Given the description of an element on the screen output the (x, y) to click on. 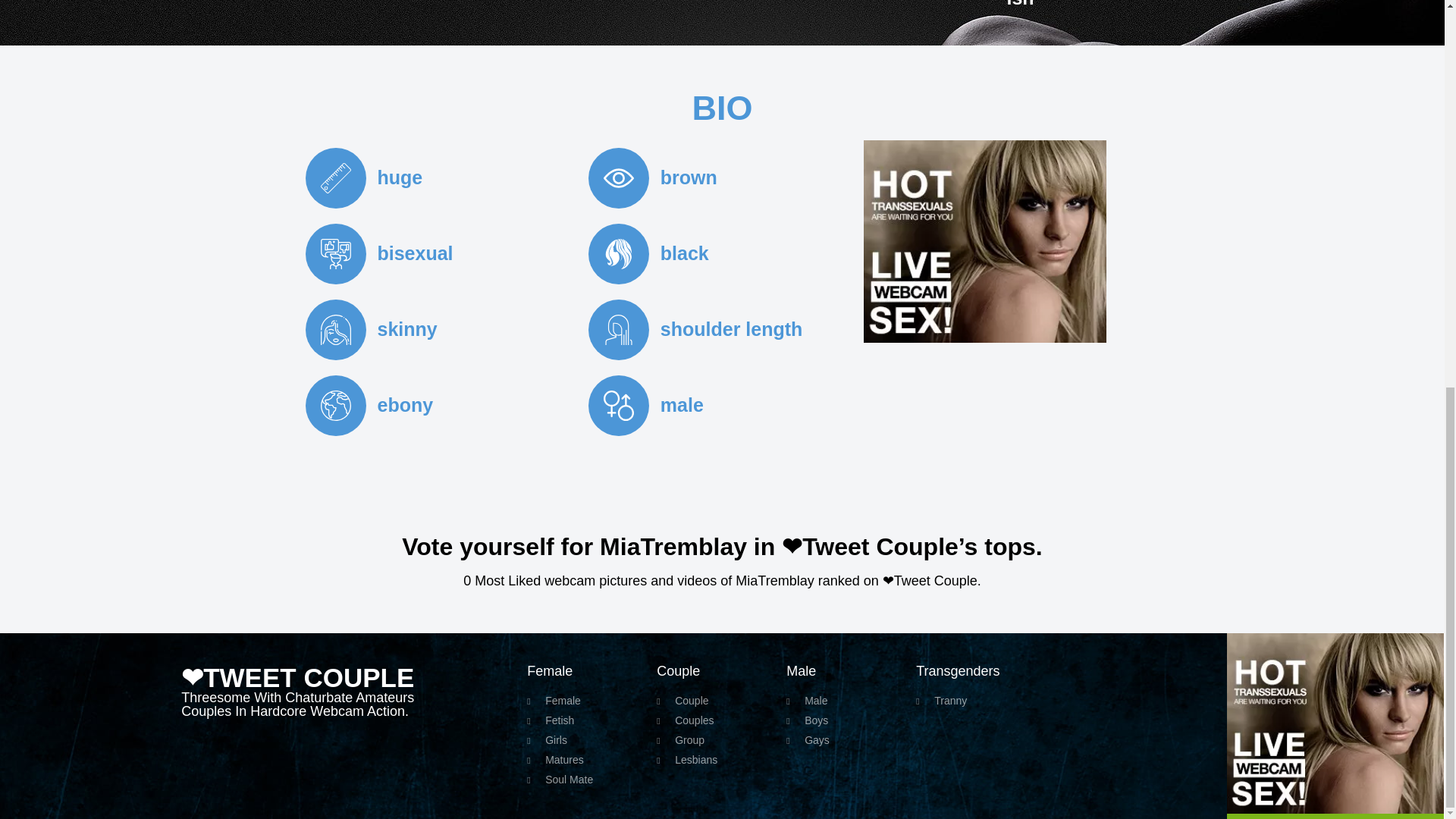
Female (591, 700)
